Given the description of an element on the screen output the (x, y) to click on. 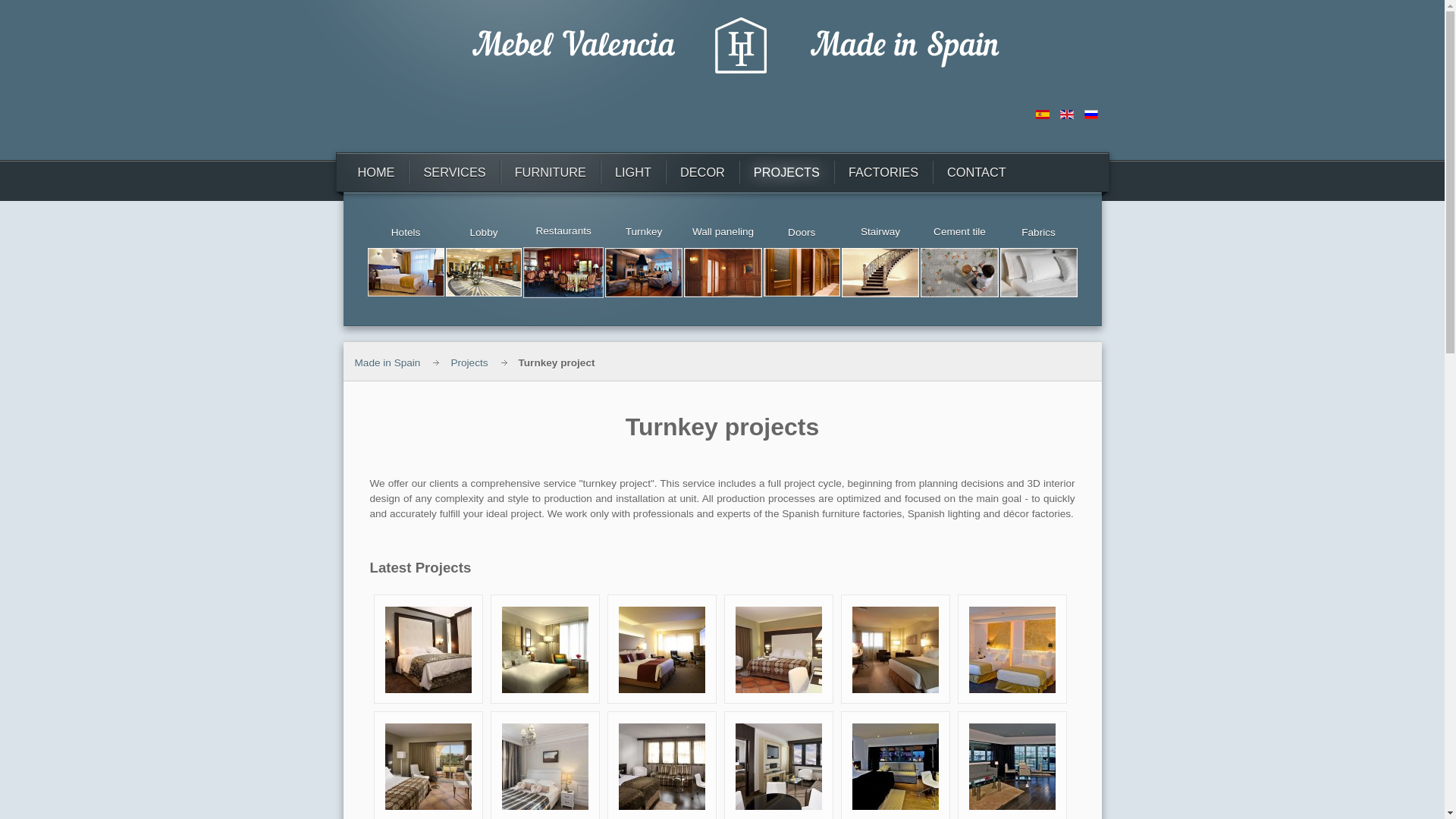
Cement tile (958, 271)
SERVICES (454, 171)
Wall paneling (722, 271)
Doors manufacturer (801, 271)
Turnkey project (643, 271)
DECOR (702, 171)
Stairway manufacturer (880, 270)
FURNITURE (549, 171)
